Given the description of an element on the screen output the (x, y) to click on. 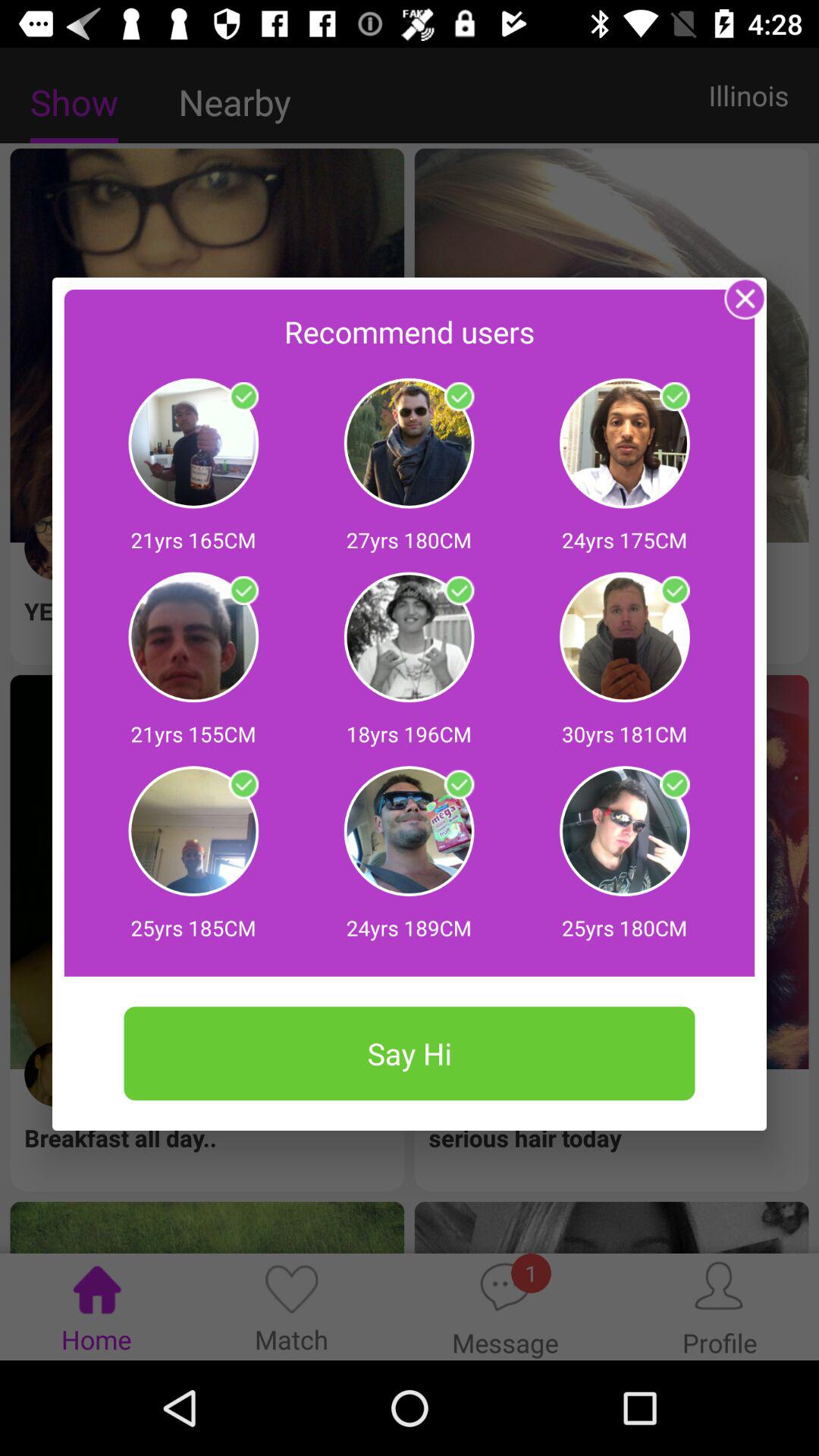
select user (459, 590)
